Given the description of an element on the screen output the (x, y) to click on. 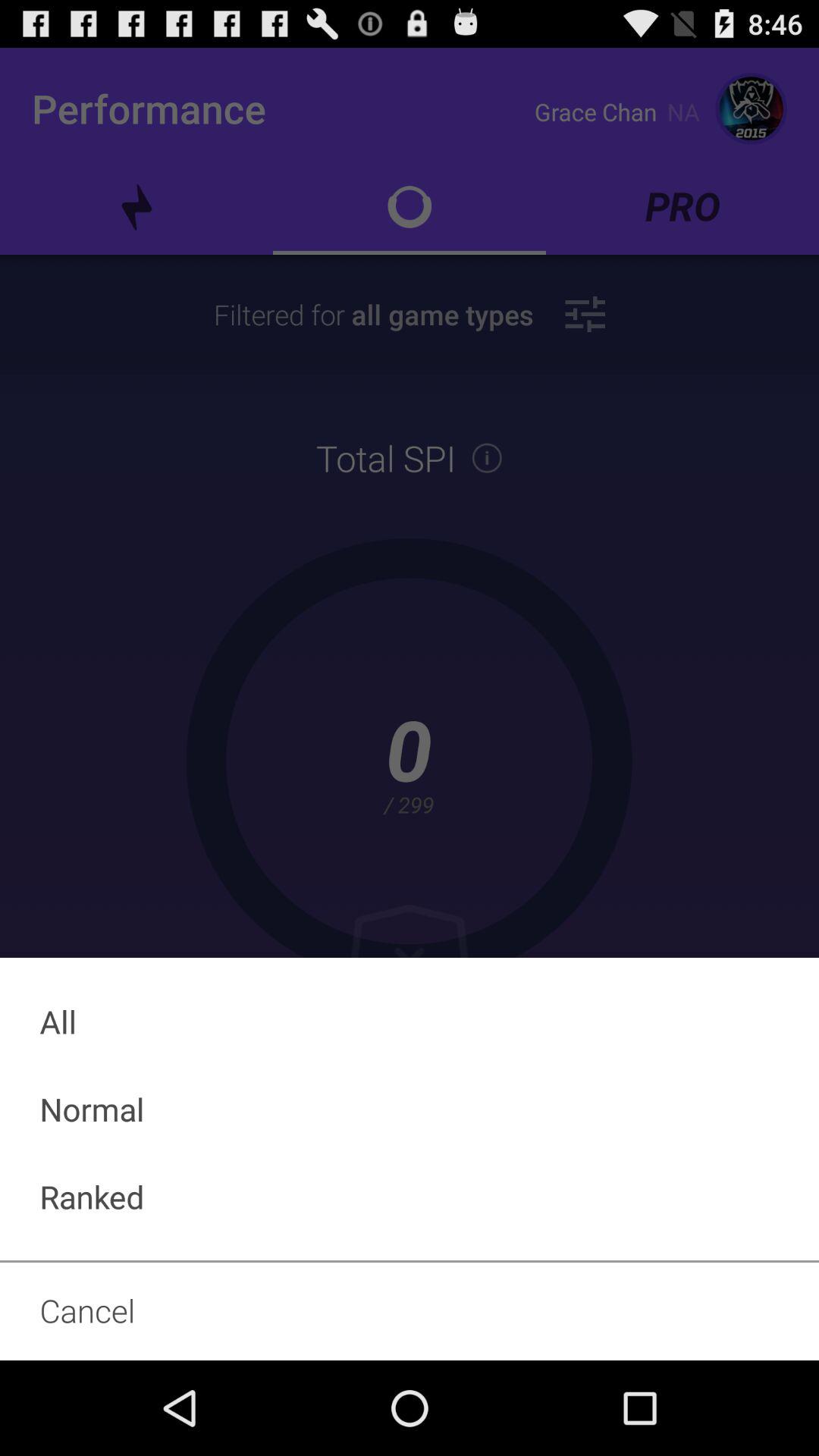
press the ranked item (409, 1196)
